Given the description of an element on the screen output the (x, y) to click on. 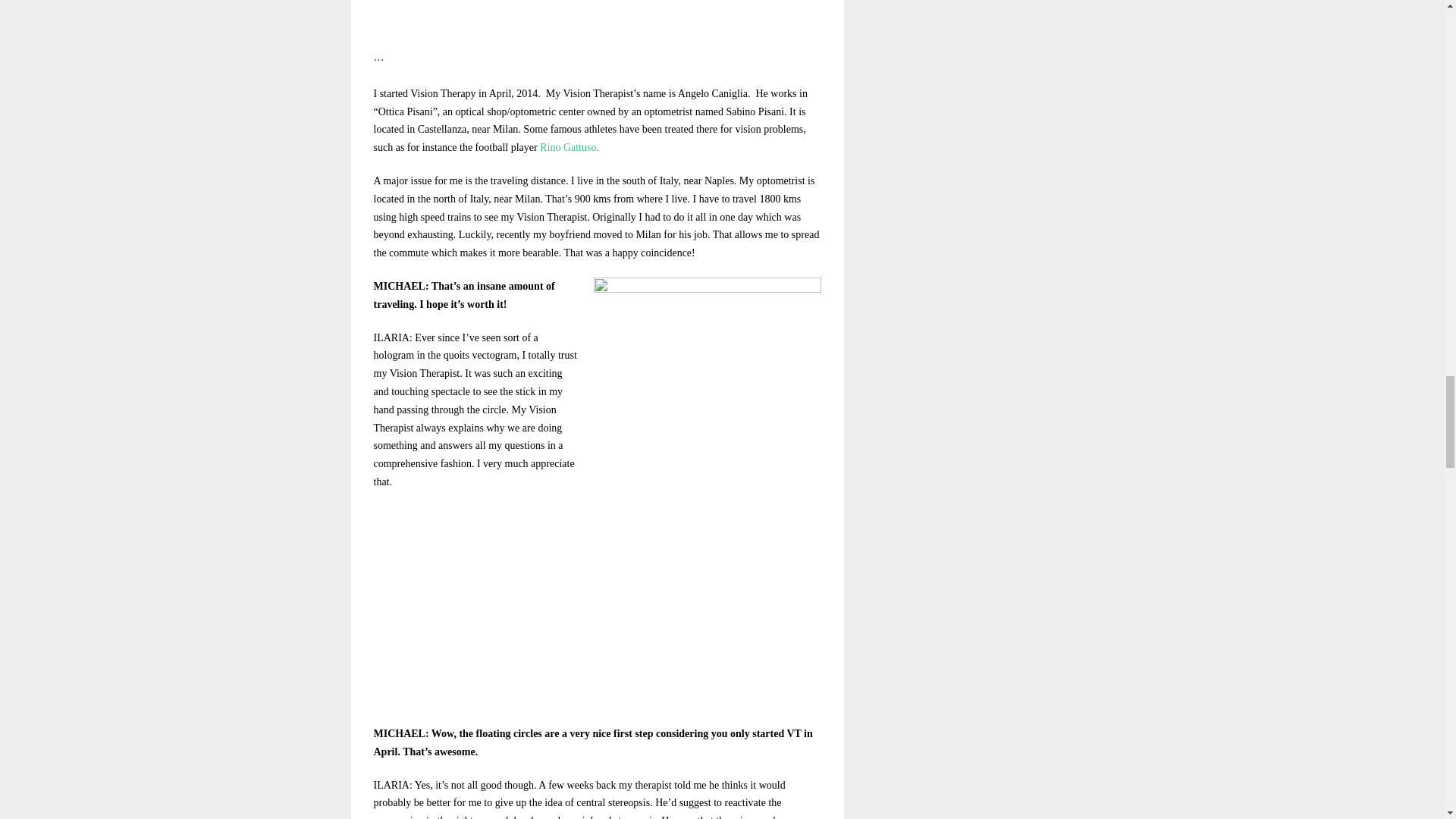
Rino Gattuso (567, 147)
